Given the description of an element on the screen output the (x, y) to click on. 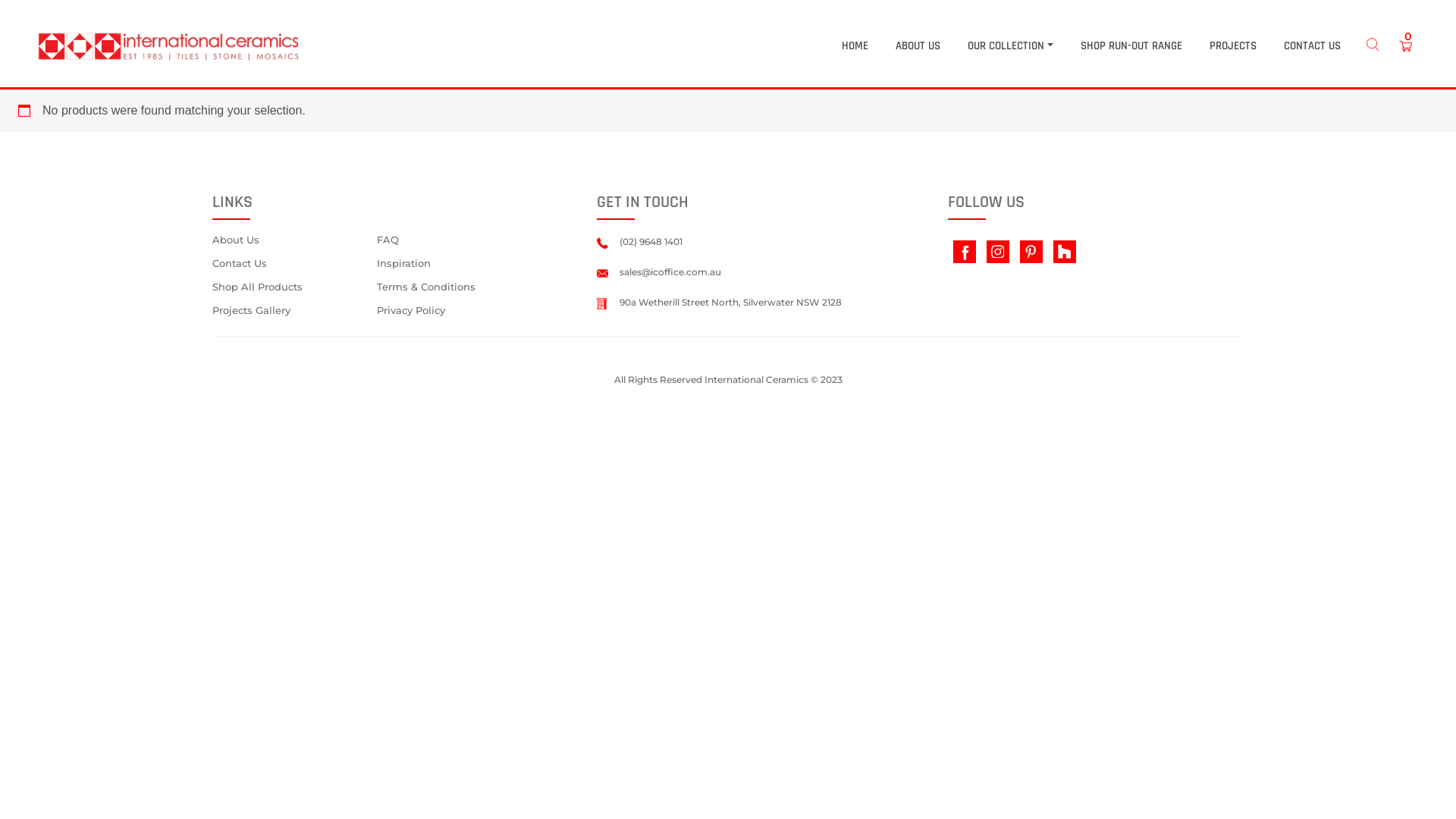
Contact Us Element type: text (288, 263)
FAQ Element type: text (464, 240)
PROJECTS Element type: text (1232, 46)
Shop All Products Element type: text (288, 287)
SHOP RUN-OUT RANGE Element type: text (1131, 46)
Projects Gallery Element type: text (288, 311)
OUR COLLECTION Element type: text (1010, 46)
HOME Element type: text (854, 46)
ABOUT US Element type: text (917, 46)
Inspiration Element type: text (464, 263)
(02) 9648 1401 Element type: text (639, 241)
CONTACT US Element type: text (1311, 46)
90a Wetherill Street North, Silverwater NSW 2128 Element type: text (718, 301)
sales@icoffice.com.au Element type: text (658, 271)
Terms & Conditions Element type: text (464, 287)
Privacy Policy Element type: text (464, 311)
About Us Element type: text (288, 240)
